Given the description of an element on the screen output the (x, y) to click on. 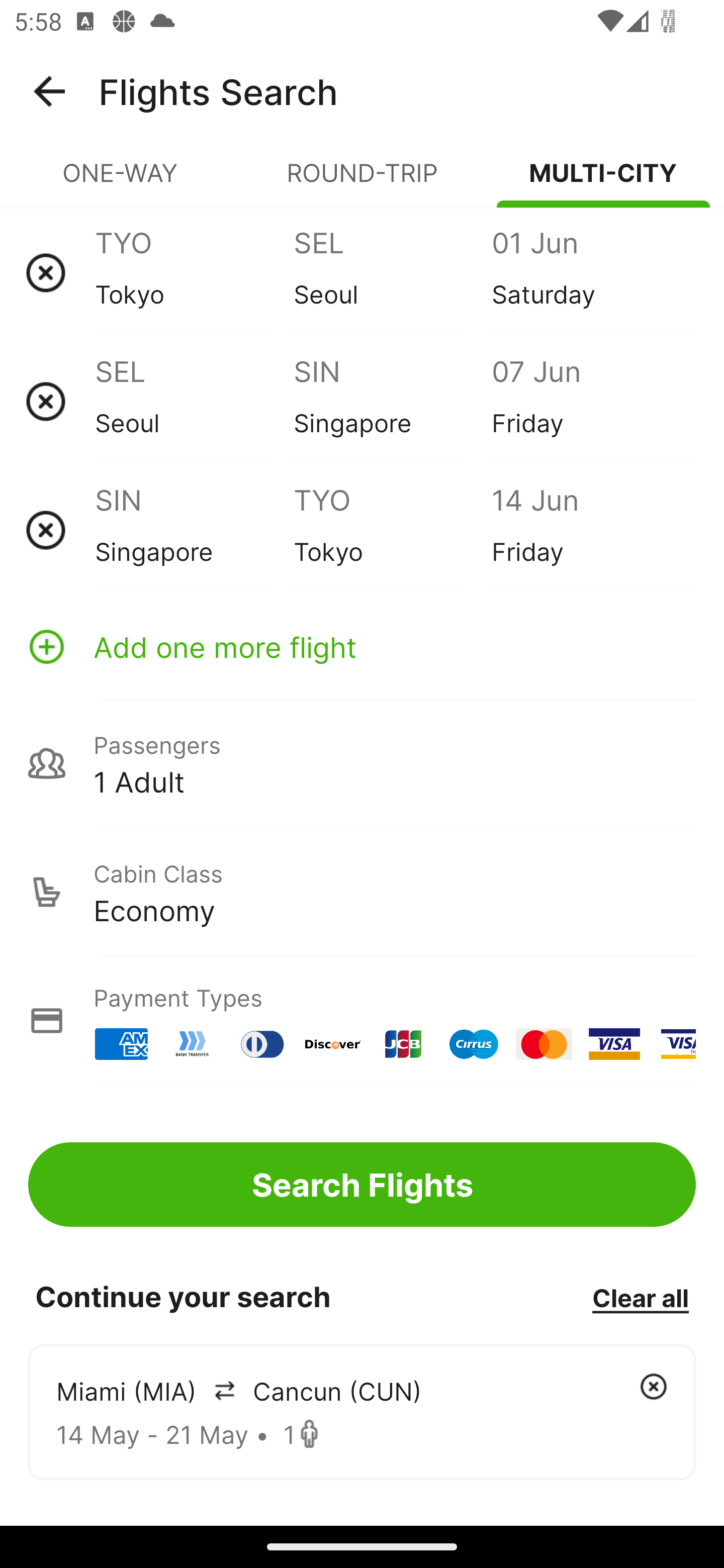
ONE-WAY (120, 180)
ROUND-TRIP (361, 180)
MULTI-CITY (603, 180)
TYO Tokyo (193, 272)
SEL Seoul (392, 272)
01 Jun Saturday (590, 272)
SEL Seoul (193, 401)
SIN Singapore (392, 401)
07 Jun Friday (590, 401)
SIN Singapore (193, 529)
TYO Tokyo (392, 529)
14 Jun Friday (590, 529)
Add one more flight (362, 646)
Passengers 1 Adult (362, 762)
Cabin Class Economy (362, 891)
Payment Types (362, 1020)
Search Flights (361, 1184)
Clear all (640, 1297)
